Given the description of an element on the screen output the (x, y) to click on. 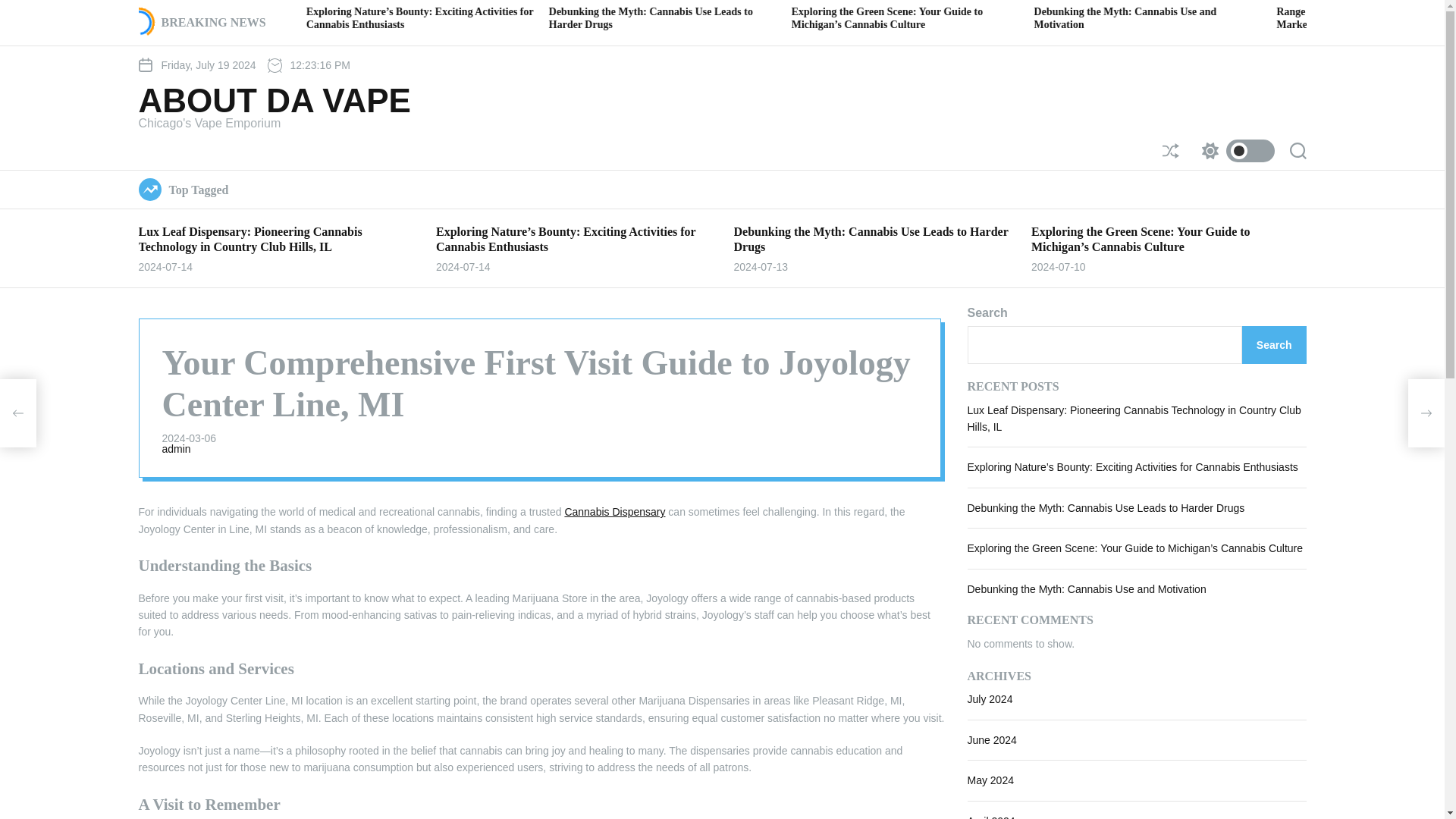
Debunking the Myth: Cannabis Use Leads to Harder Drugs (871, 238)
Debunking the Myth: Cannabis Use Leads to Harder Drugs (864, 17)
Debunking the Myth: Cannabis Use and Motivation (1338, 17)
admin (175, 448)
ABOUT DA VAPE (274, 100)
Switch color mode (1233, 150)
Cannabis Dispensary (614, 511)
